Given the description of an element on the screen output the (x, y) to click on. 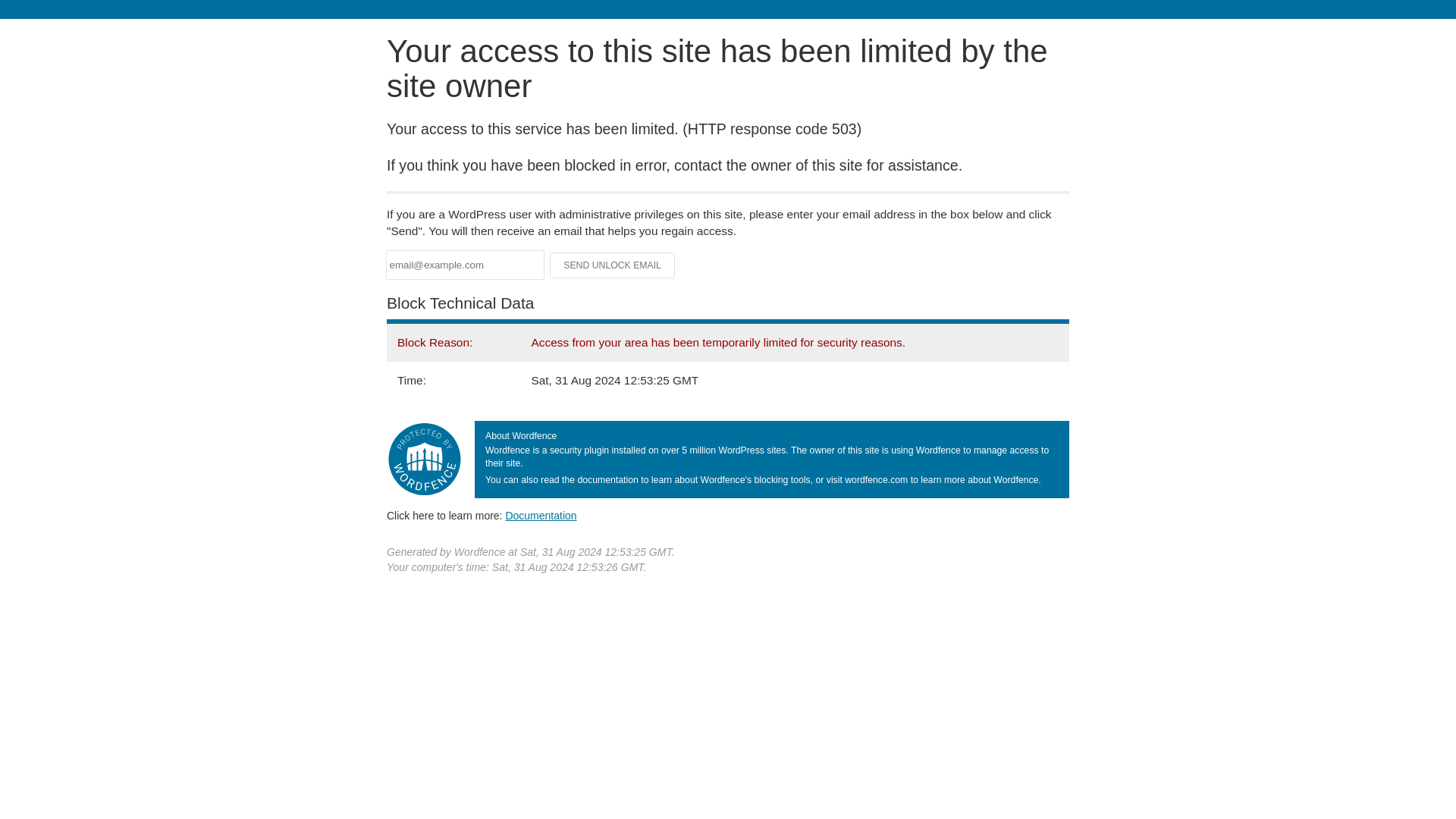
Send Unlock Email (612, 265)
Send Unlock Email (612, 265)
Documentation (540, 515)
